Given the description of an element on the screen output the (x, y) to click on. 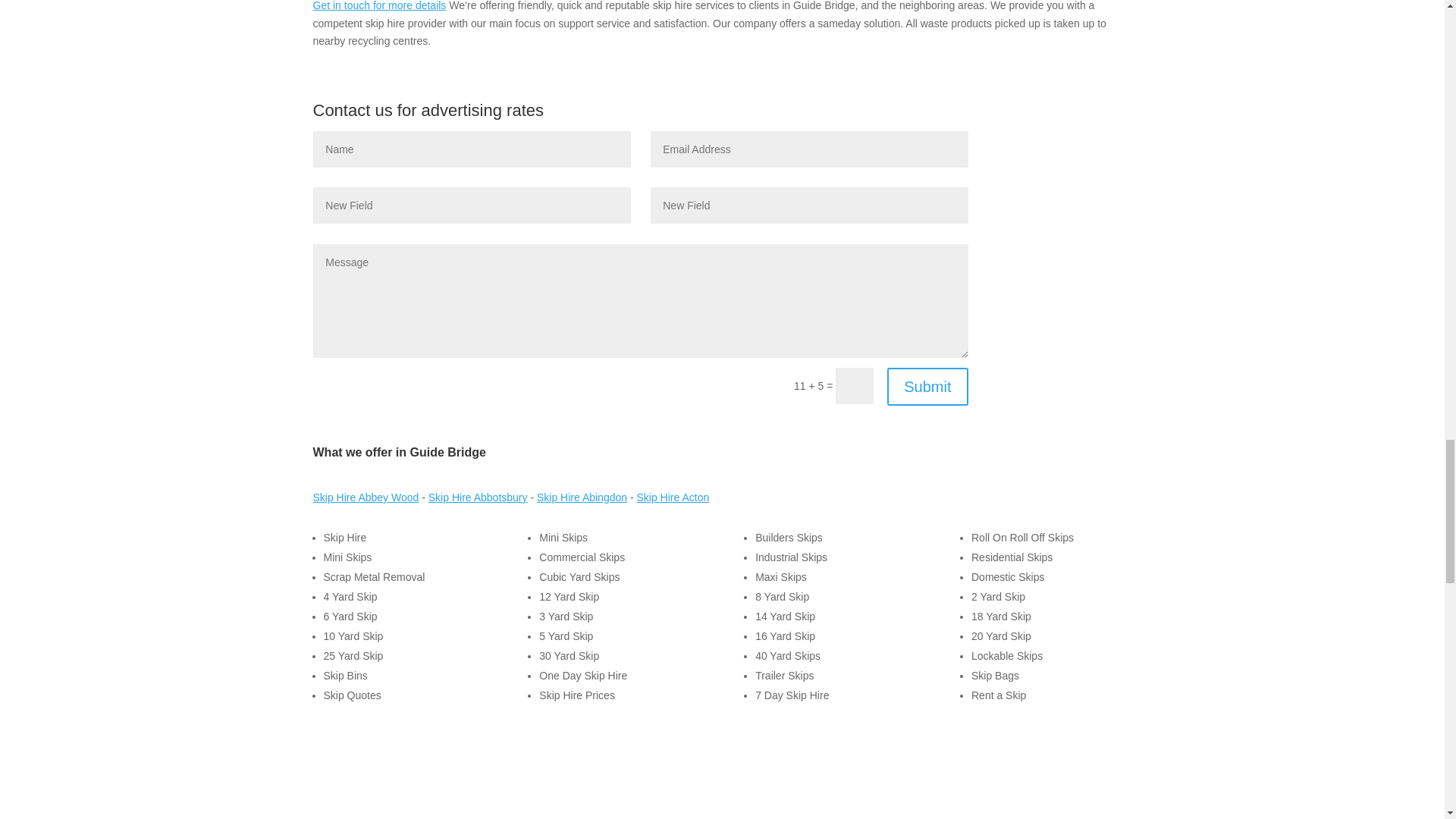
Skip Hire Acton (673, 497)
Submit (927, 386)
Skip Hire Abingdon (582, 497)
Skip Hire Abingdon (582, 497)
Skip Hire Abbey Wood (366, 497)
Skip Hire Abbey Wood (366, 497)
Skip Hire Abbotsbury (477, 497)
Get in touch for more details (379, 5)
Skip Hire Acton (673, 497)
Skip Hire Abbotsbury (477, 497)
